Given the description of an element on the screen output the (x, y) to click on. 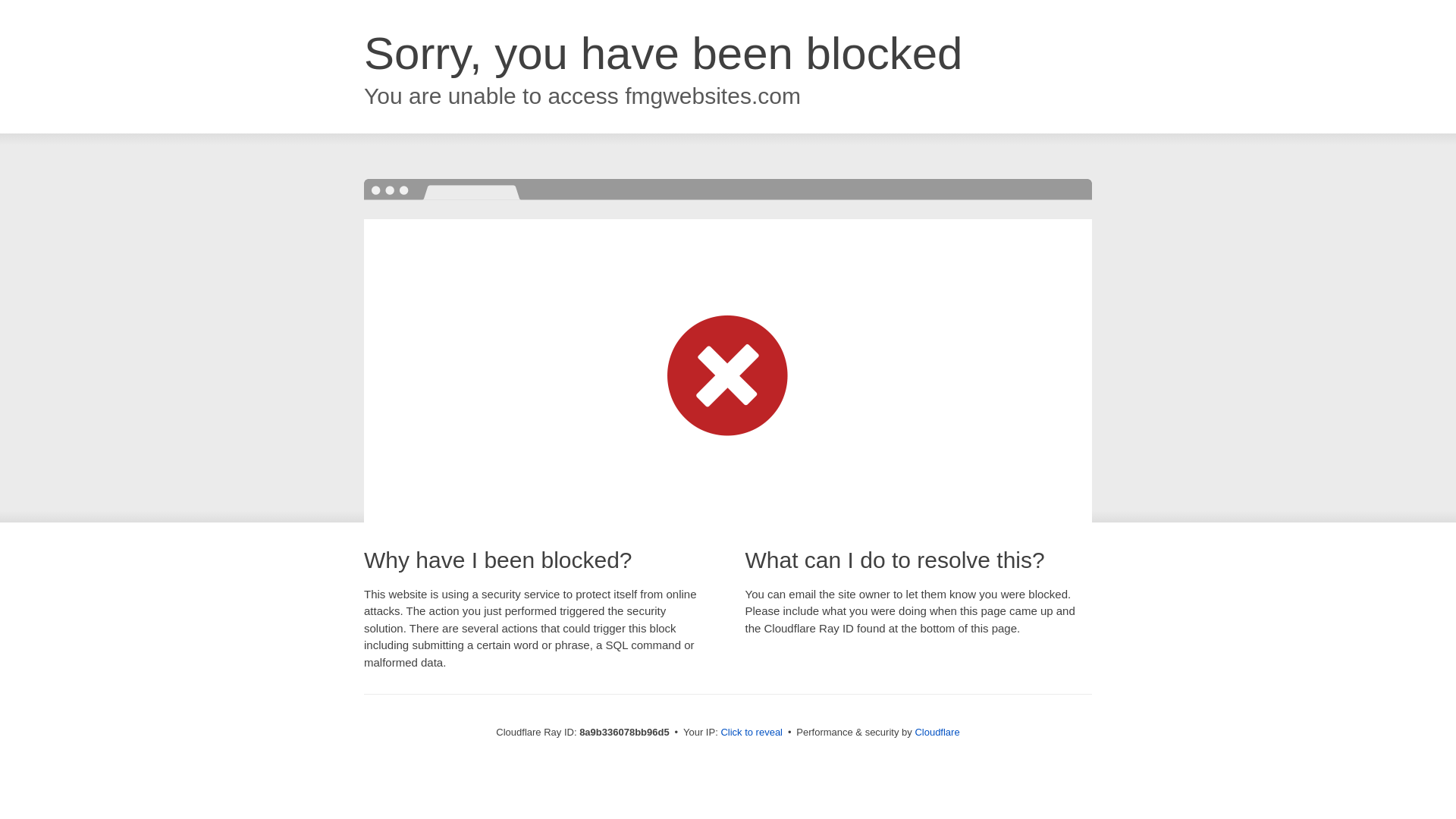
Cloudflare (936, 731)
Click to reveal (751, 732)
